Given the description of an element on the screen output the (x, y) to click on. 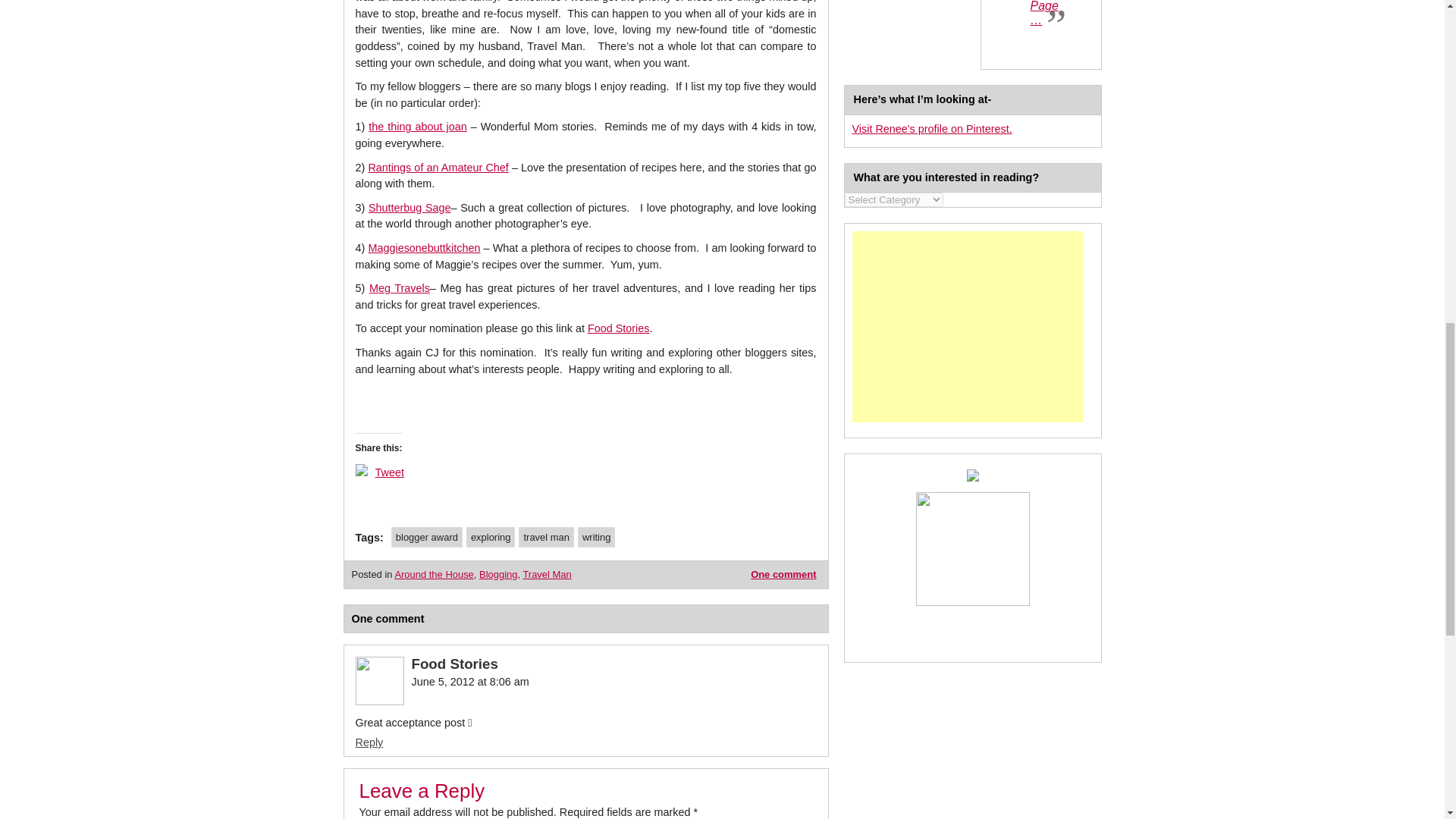
June 5, 2012 at 8:06 am (469, 681)
Reply (368, 742)
writing (596, 537)
exploring (490, 537)
Food Stories (618, 328)
travel man (545, 537)
Tweet (388, 472)
Rantings of an Amateur Chef (438, 167)
blogger award (427, 537)
Shutterbug Sage (409, 207)
